Given the description of an element on the screen output the (x, y) to click on. 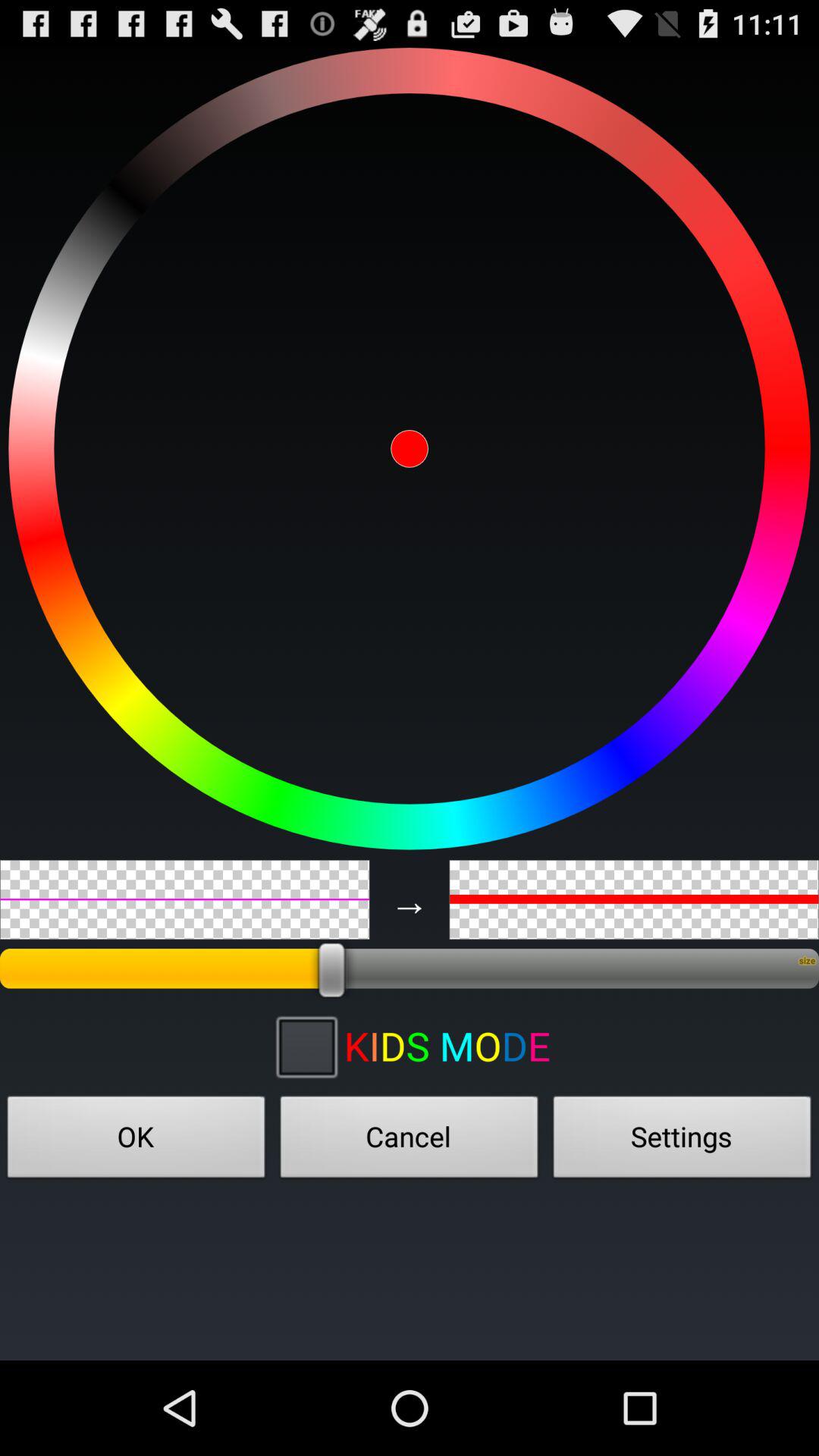
choose the icon at the top (409, 448)
